Given the description of an element on the screen output the (x, y) to click on. 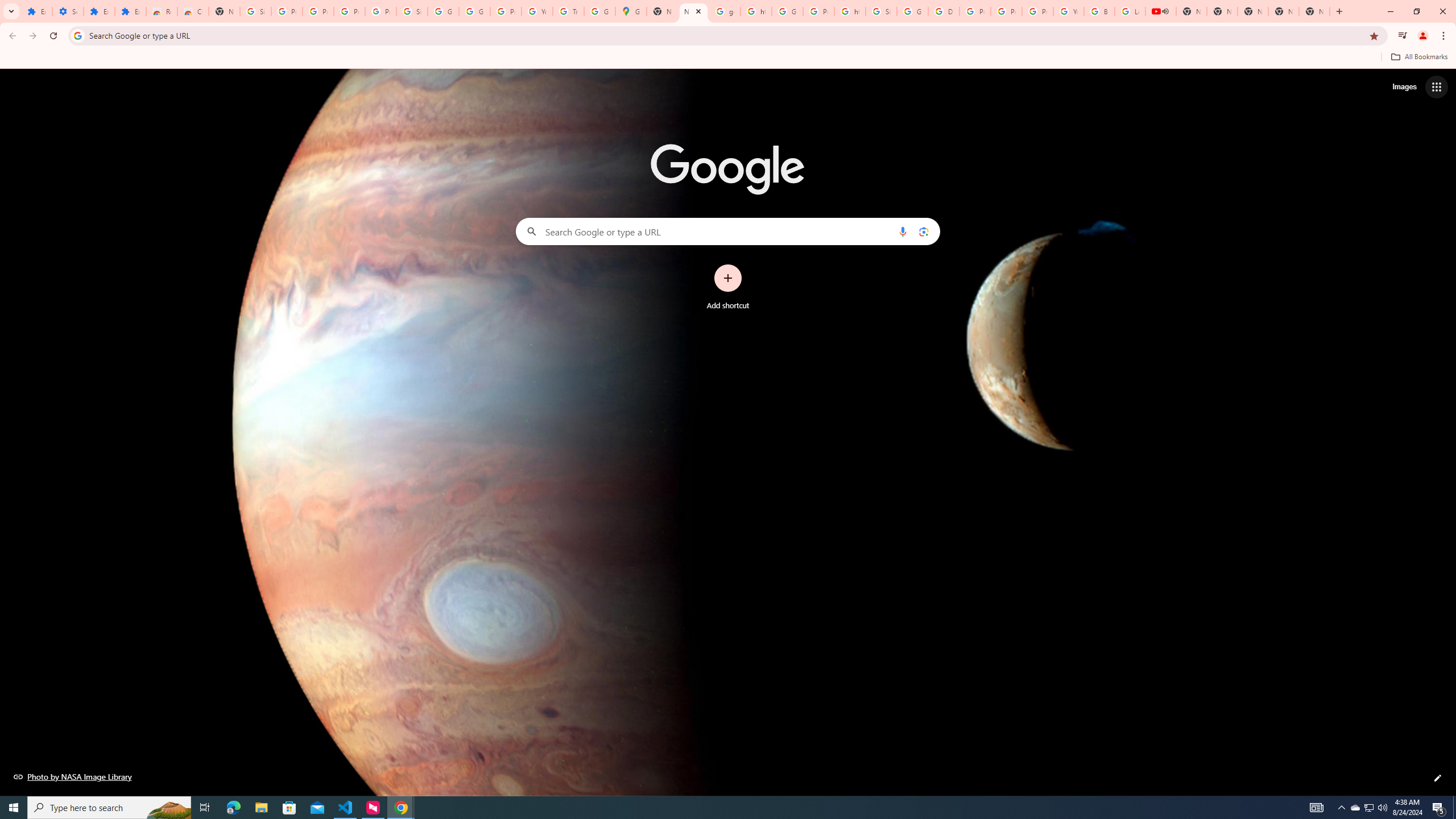
Search for Images  (1403, 87)
